Given the description of an element on the screen output the (x, y) to click on. 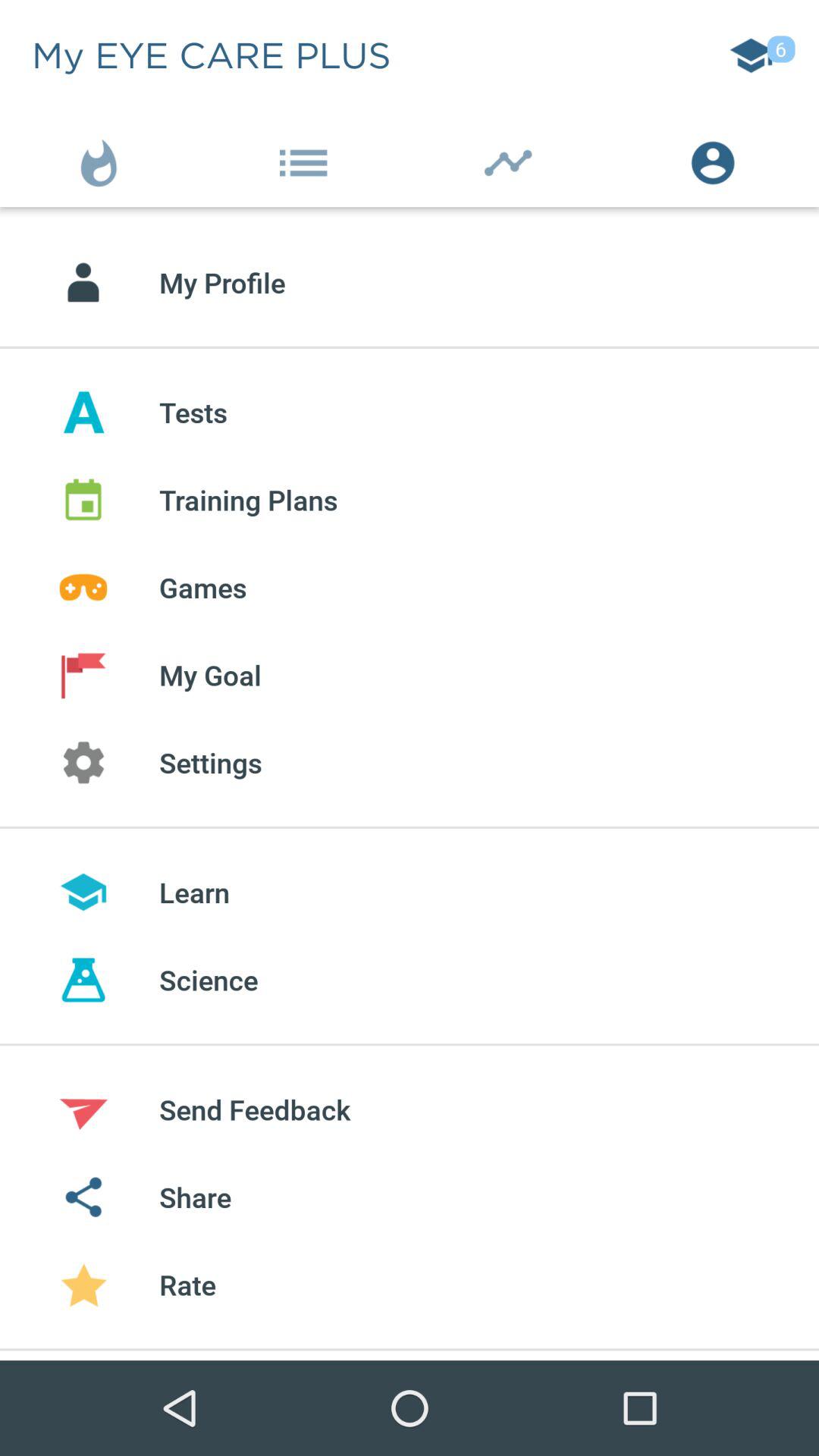
select the (511, 159)
